Given the description of an element on the screen output the (x, y) to click on. 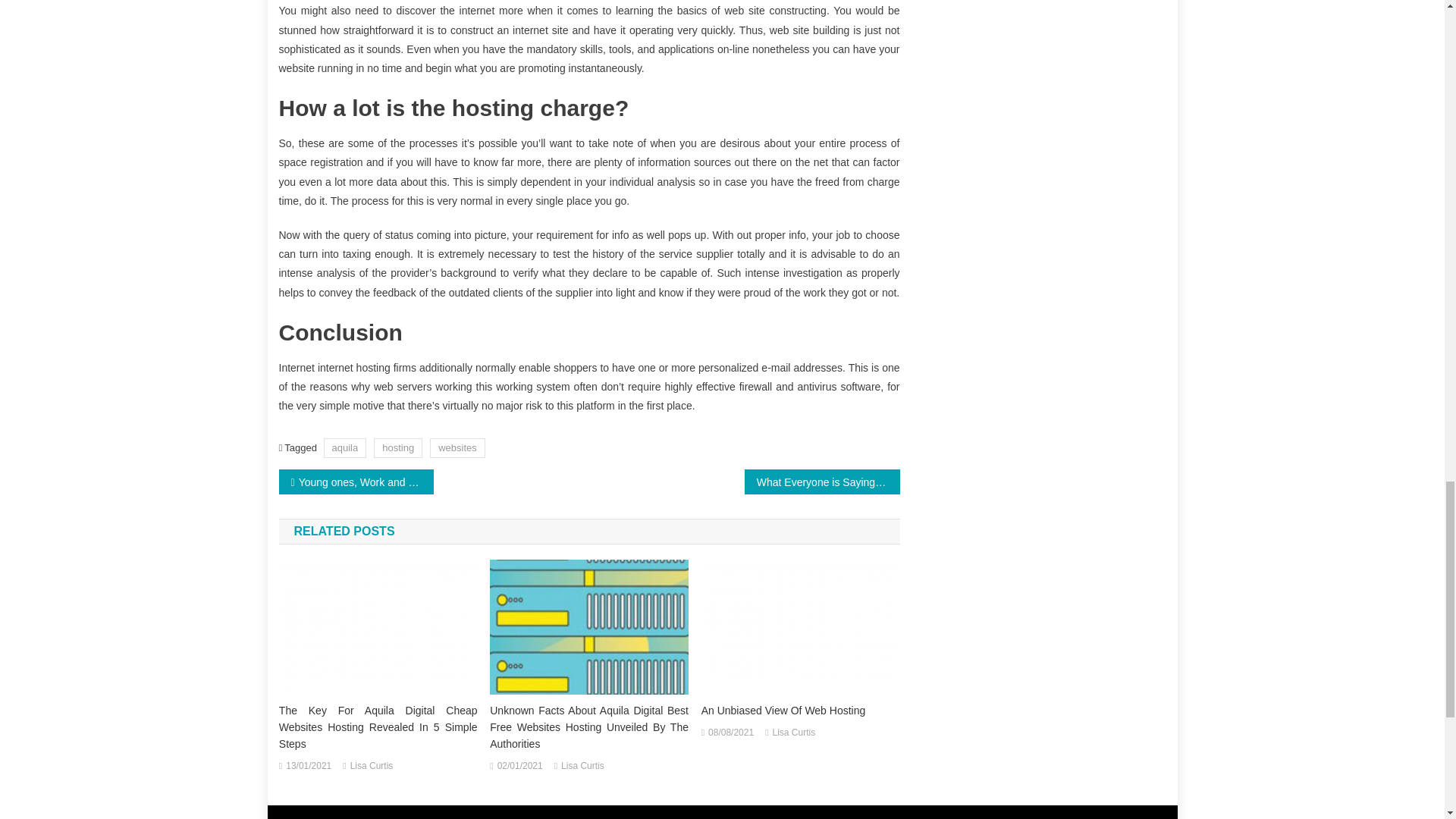
Lisa Curtis (371, 766)
Lisa Curtis (582, 766)
hosting (398, 447)
Young ones, Work and SEO (356, 481)
An Unbiased View of Web Hosting (800, 626)
An Unbiased View Of Web Hosting (800, 710)
